Given the description of an element on the screen output the (x, y) to click on. 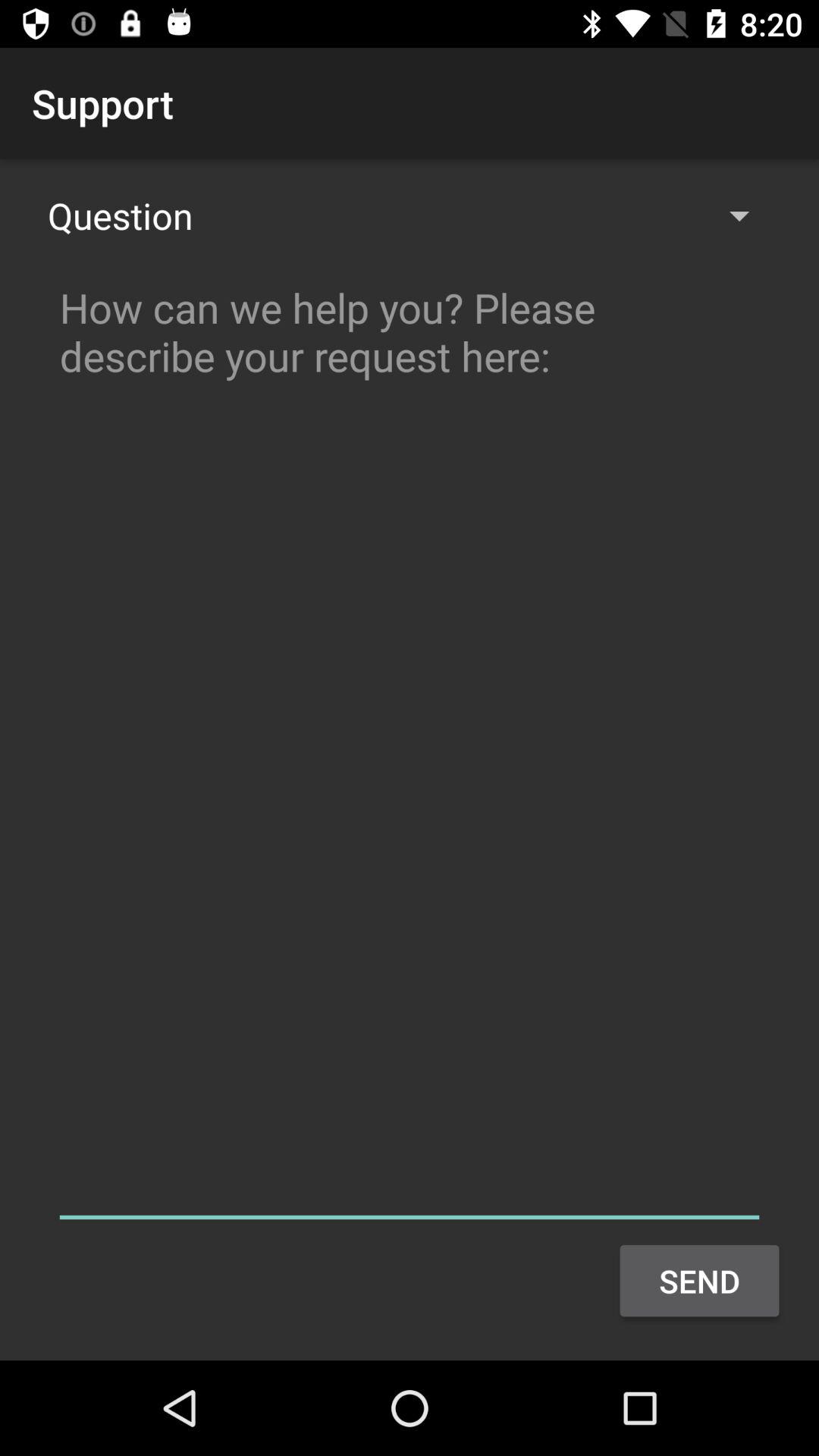
colour pinter (409, 746)
